Given the description of an element on the screen output the (x, y) to click on. 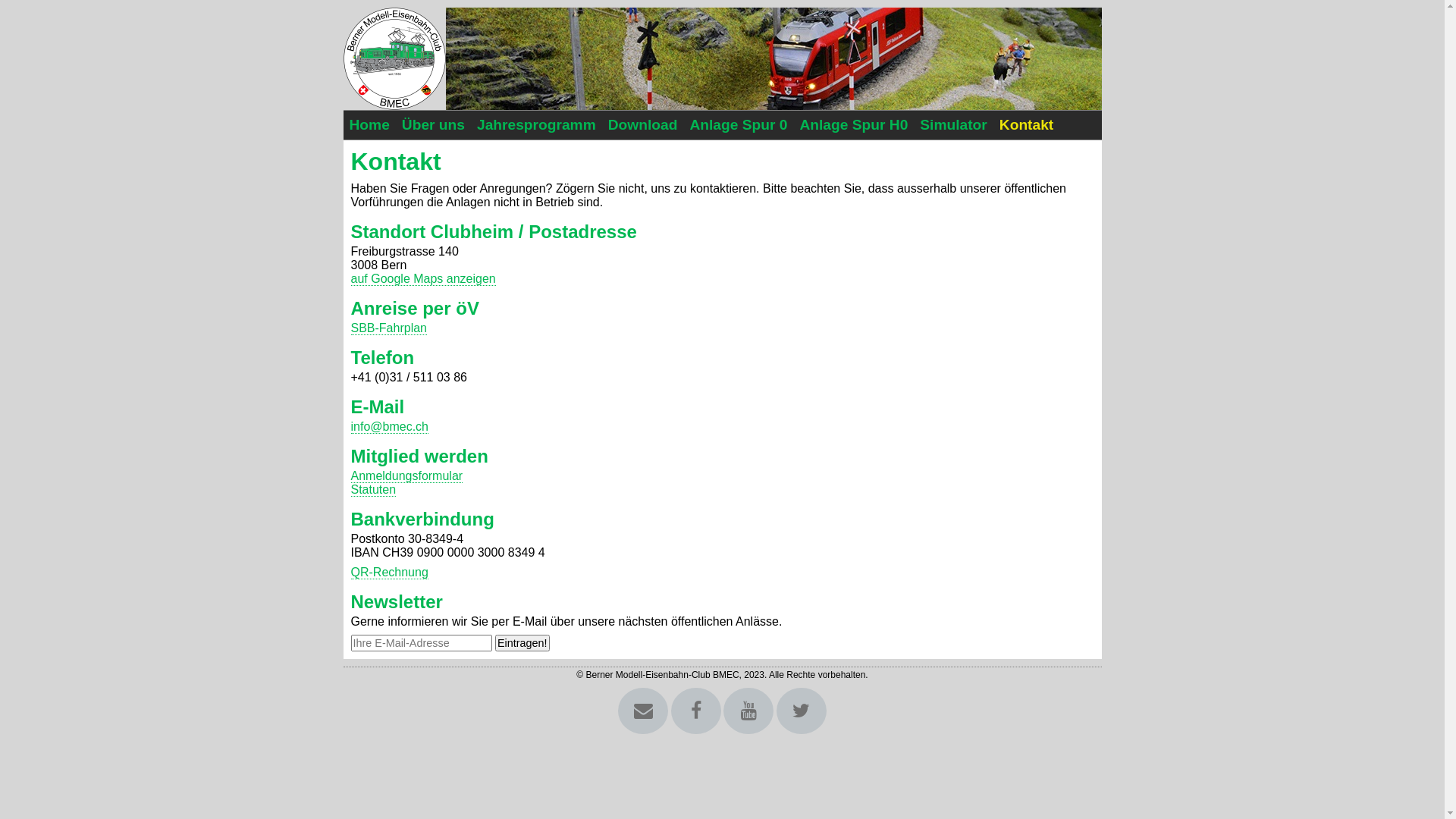
Statuten Element type: text (372, 489)
QR-Rechnung Element type: text (388, 572)
+41 (0)31 / 511 03 86 Element type: text (408, 376)
Download Element type: text (643, 124)
SBB-Fahrplan Element type: text (388, 328)
Eintragen! Element type: text (522, 642)
Anmeldungsformular Element type: text (406, 476)
Kontakt Element type: text (1026, 124)
auf Google Maps anzeigen Element type: text (422, 278)
Anlage Spur 0 Element type: text (738, 124)
Jahresprogramm Element type: text (536, 124)
Simulator Element type: text (953, 124)
Anlage Spur H0 Element type: text (853, 124)
info@bmec.ch Element type: text (389, 426)
Home Element type: text (368, 124)
